Given the description of an element on the screen output the (x, y) to click on. 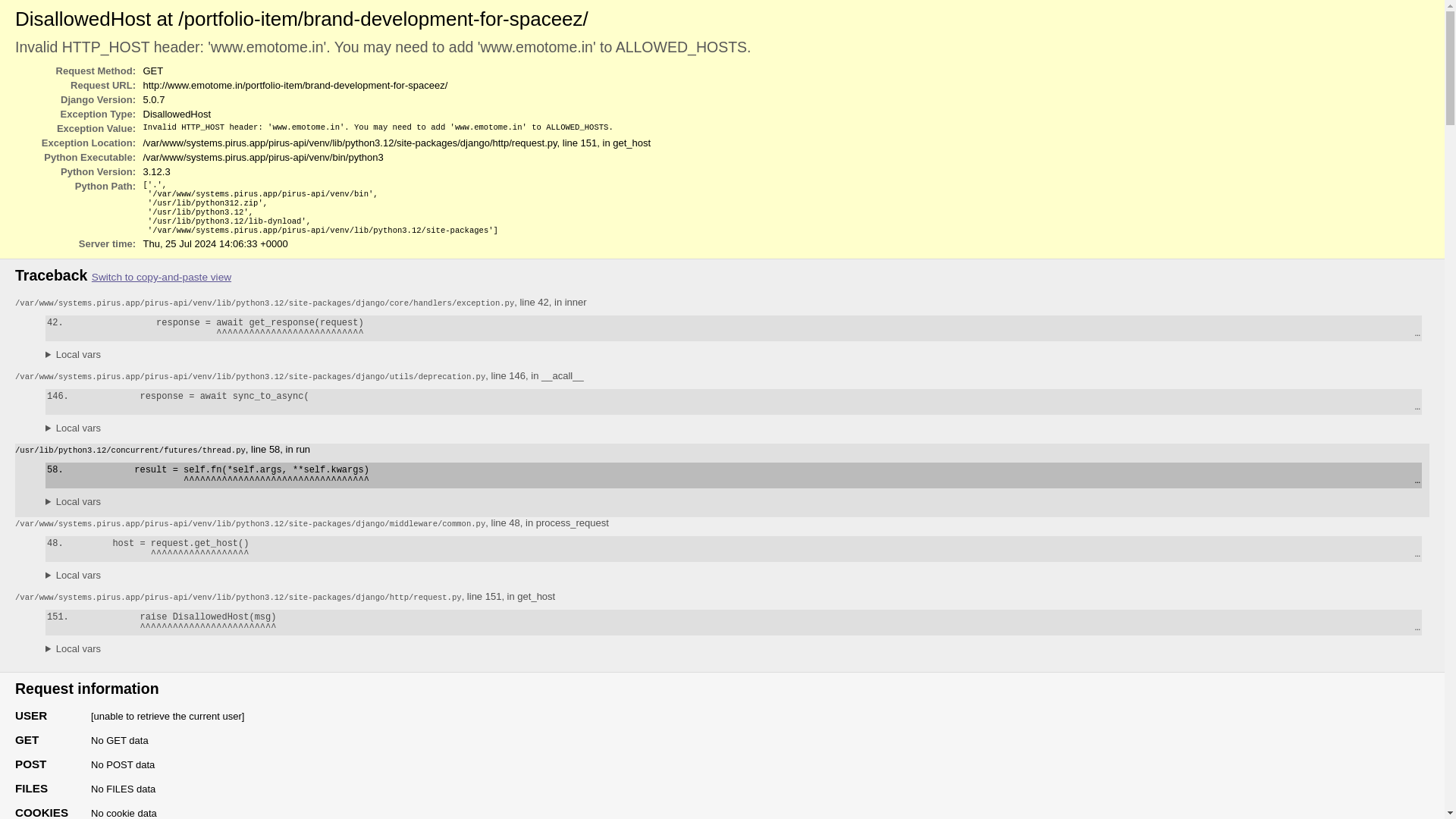
Switch to copy-and-paste view (161, 276)
